Given the description of an element on the screen output the (x, y) to click on. 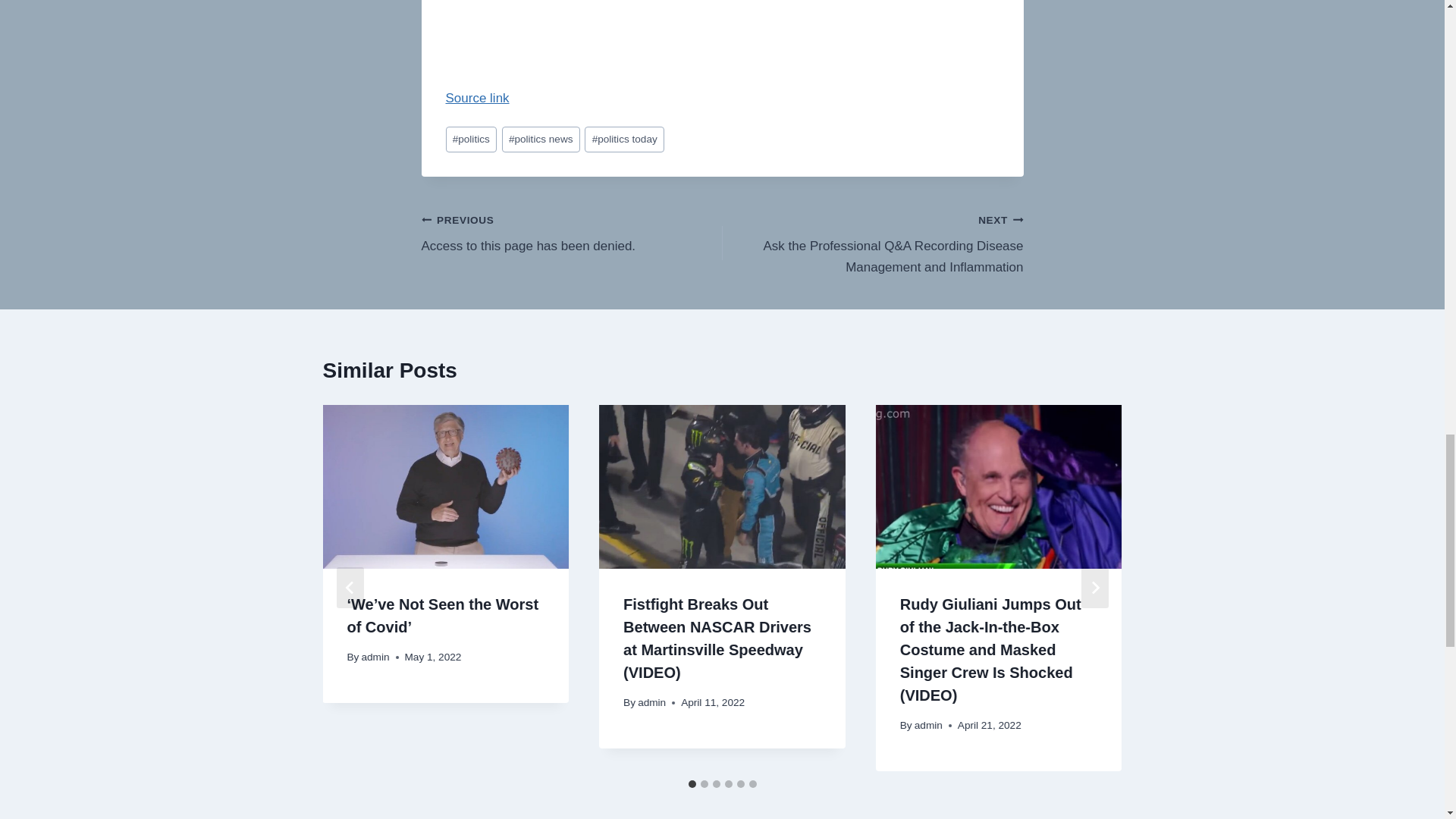
politics news (540, 139)
Source link (477, 97)
politics (470, 139)
politics today (624, 139)
